Given the description of an element on the screen output the (x, y) to click on. 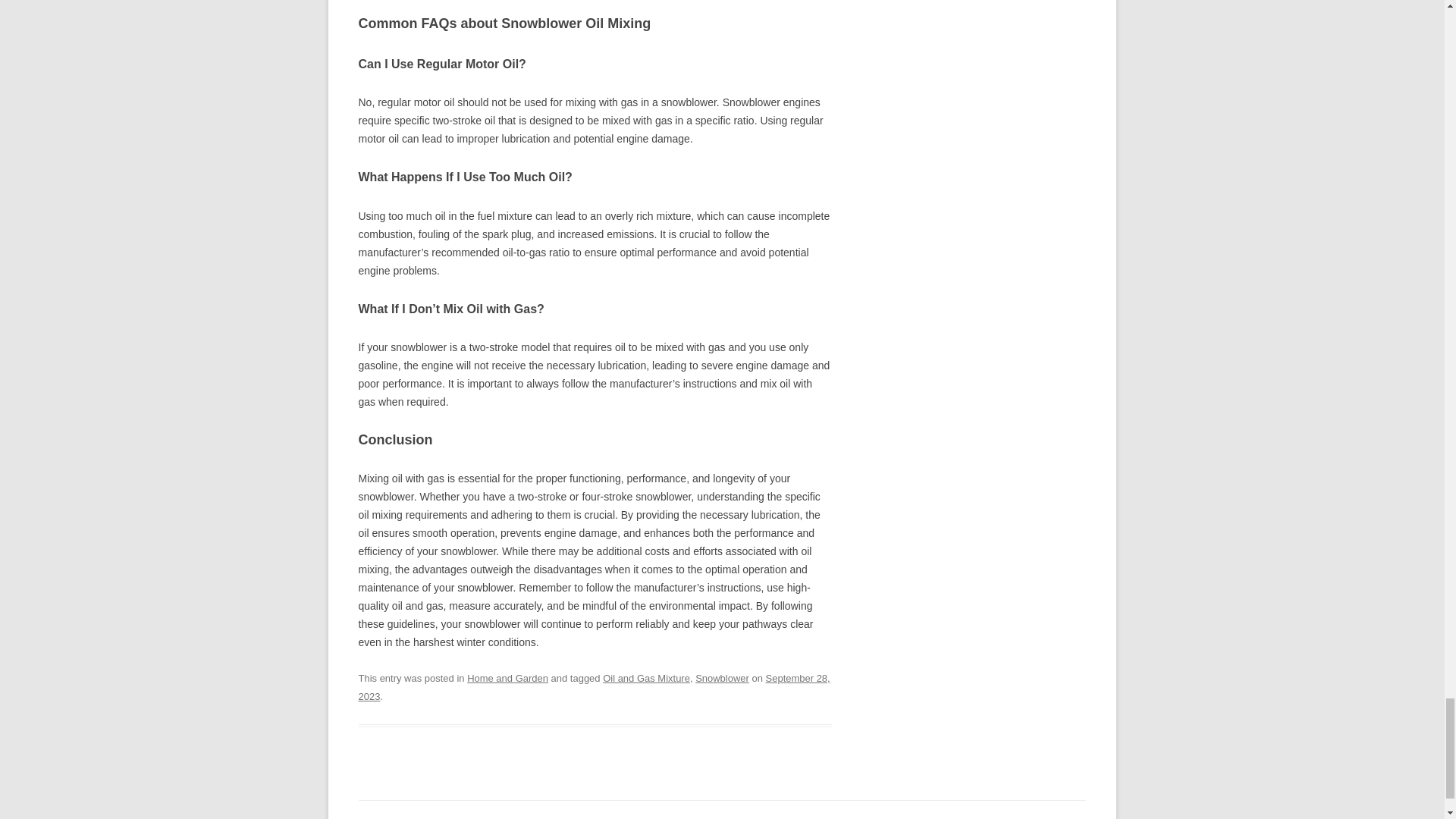
Oil and Gas Mixture (646, 677)
September 28, 2023 (593, 686)
Home and Garden (507, 677)
Snowblower (722, 677)
11:53 am (593, 686)
